Given the description of an element on the screen output the (x, y) to click on. 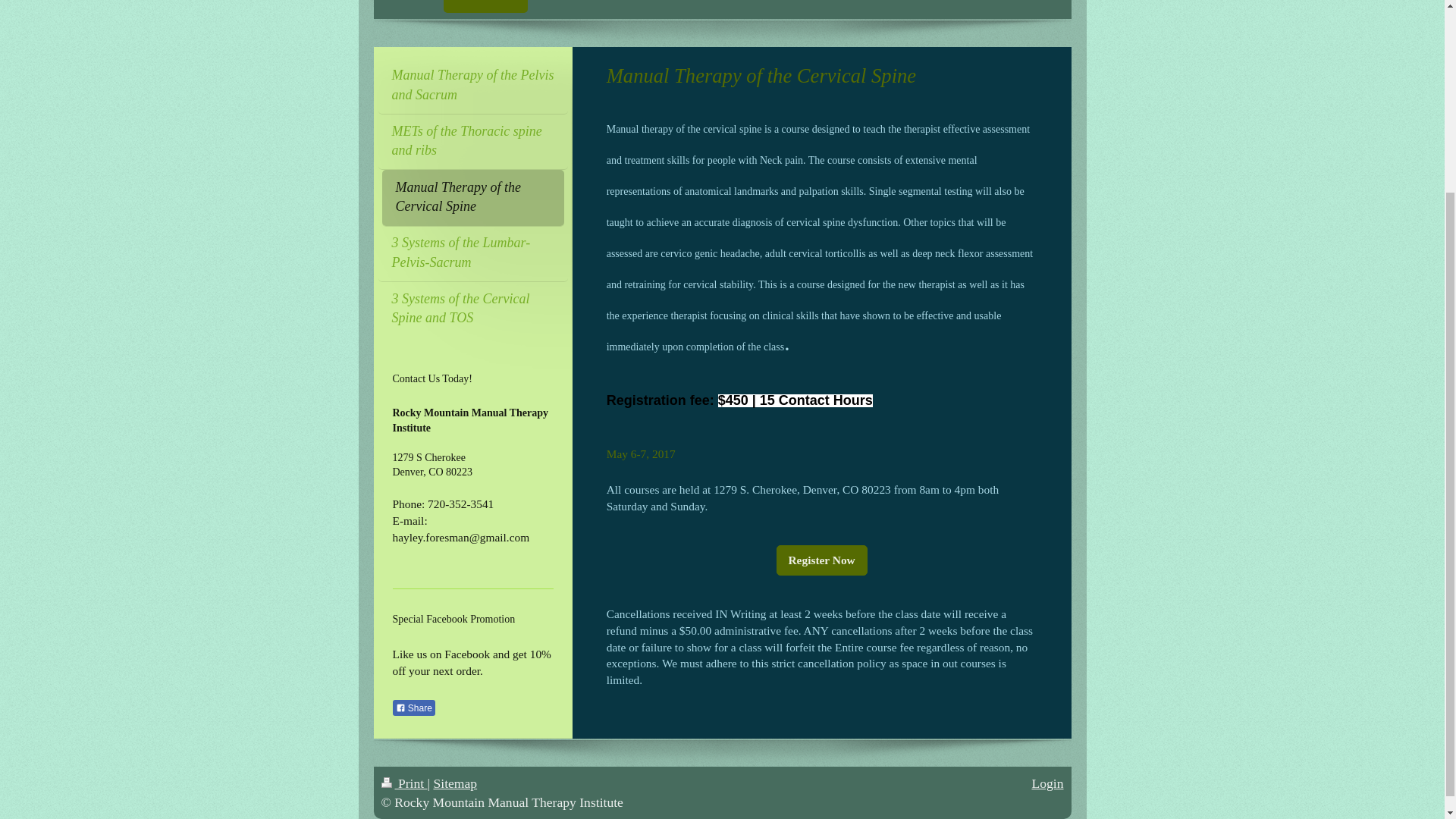
REGISTRATION (802, 6)
3 Systems of the Cervical Spine and TOS (472, 308)
MASSAGE THERAPY COURSES (636, 6)
METs of the Thoracic spine and ribs (472, 141)
COURSES (485, 6)
HOME (408, 6)
3 Systems of the Lumbar-Pelvis-Sacrum (472, 253)
ABOUT US (907, 6)
Manual Therapy of the Cervical Spine (472, 197)
Manual Therapy of the Pelvis and Sacrum (472, 86)
Register Now (821, 560)
